Given the description of an element on the screen output the (x, y) to click on. 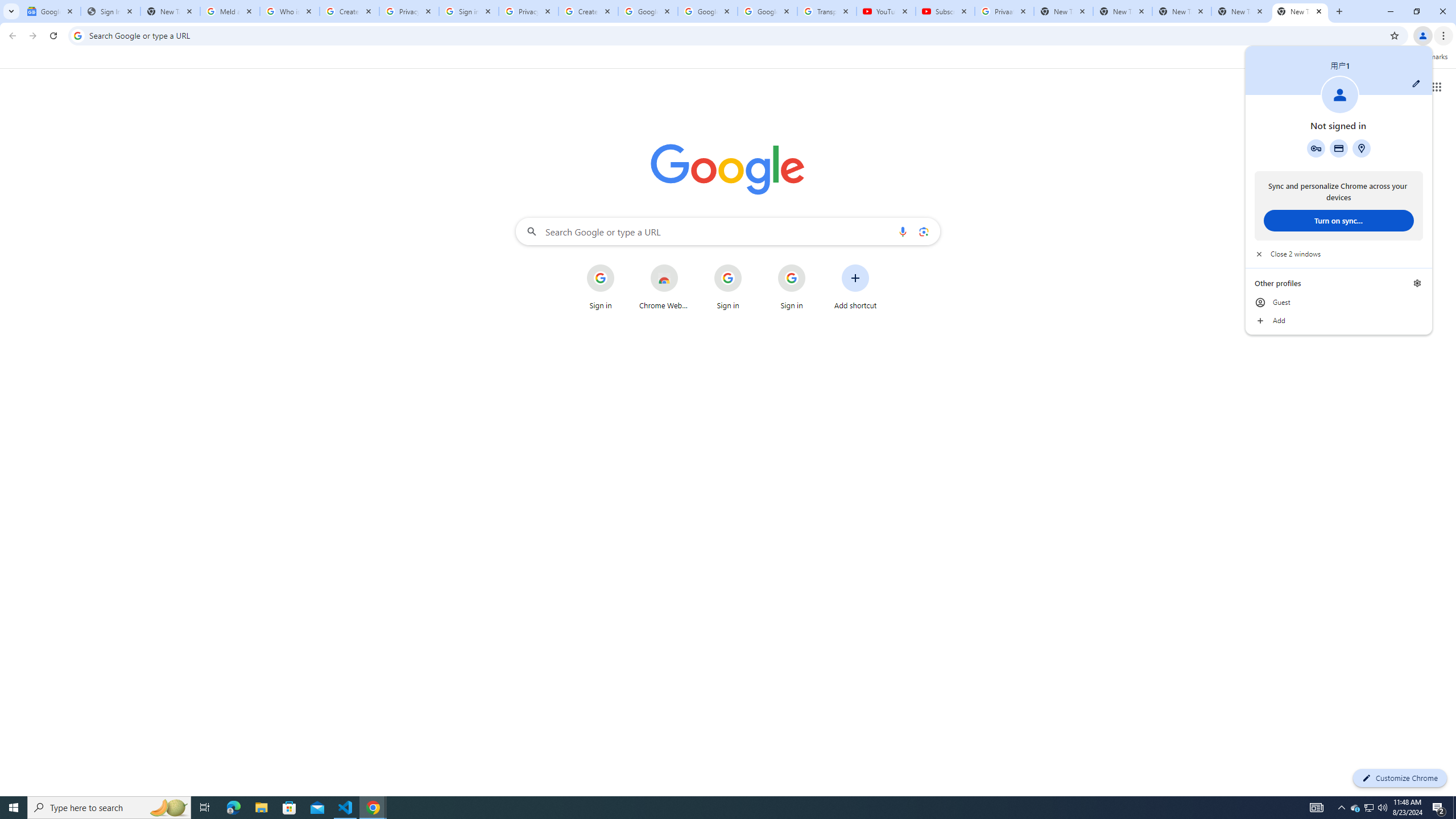
Google News (50, 11)
YouTube (885, 11)
Close 2 windows (1368, 807)
Addresses and more (1338, 253)
Guest (1361, 148)
File Explorer (1338, 302)
More actions for Chrome Web Store shortcut (261, 807)
